Given the description of an element on the screen output the (x, y) to click on. 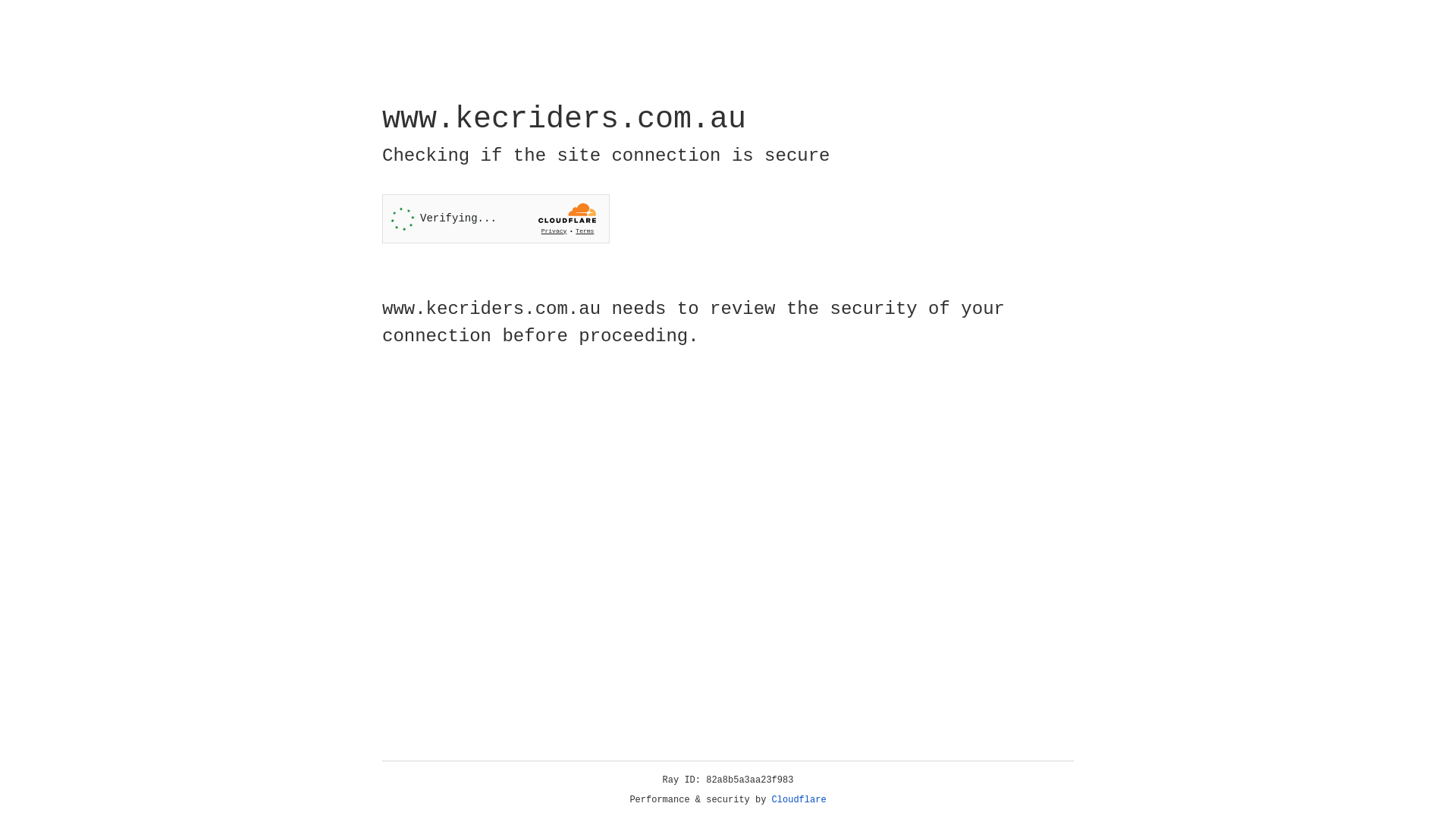
Widget containing a Cloudflare security challenge Element type: hover (495, 218)
Cloudflare Element type: text (798, 799)
